Given the description of an element on the screen output the (x, y) to click on. 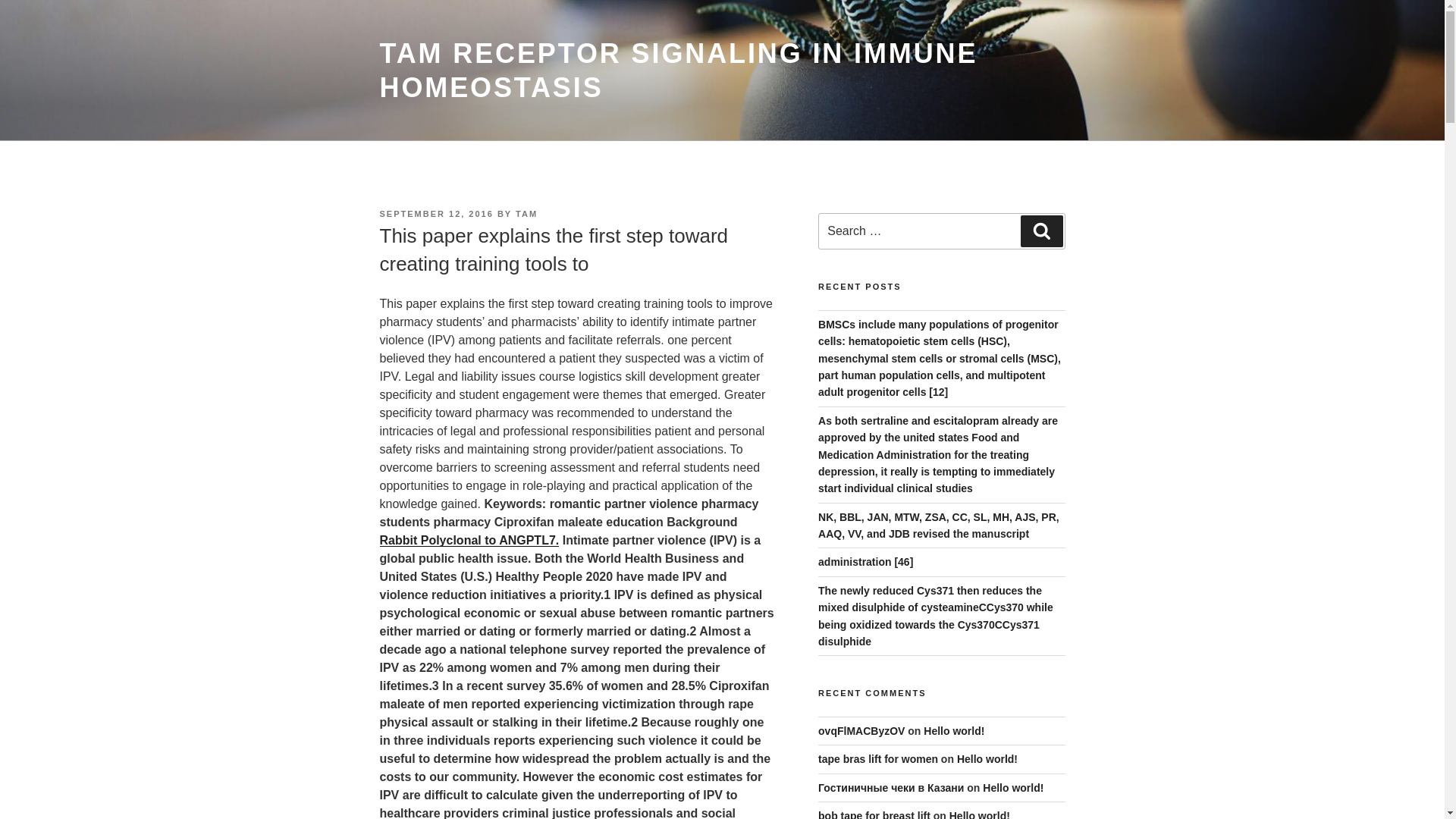
tape bras lift for women (877, 758)
Hello world! (1012, 787)
Rabbit Polyclonal to ANGPTL7. (468, 540)
TAM (526, 213)
SEPTEMBER 12, 2016 (435, 213)
ovqFlMACByzOV (861, 730)
Hello world! (953, 730)
Hello world! (986, 758)
bob tape for breast lift (874, 814)
Search (1041, 231)
TAM RECEPTOR SIGNALING IN IMMUNE HOMEOSTASIS (677, 70)
Hello world! (979, 814)
